Given the description of an element on the screen output the (x, y) to click on. 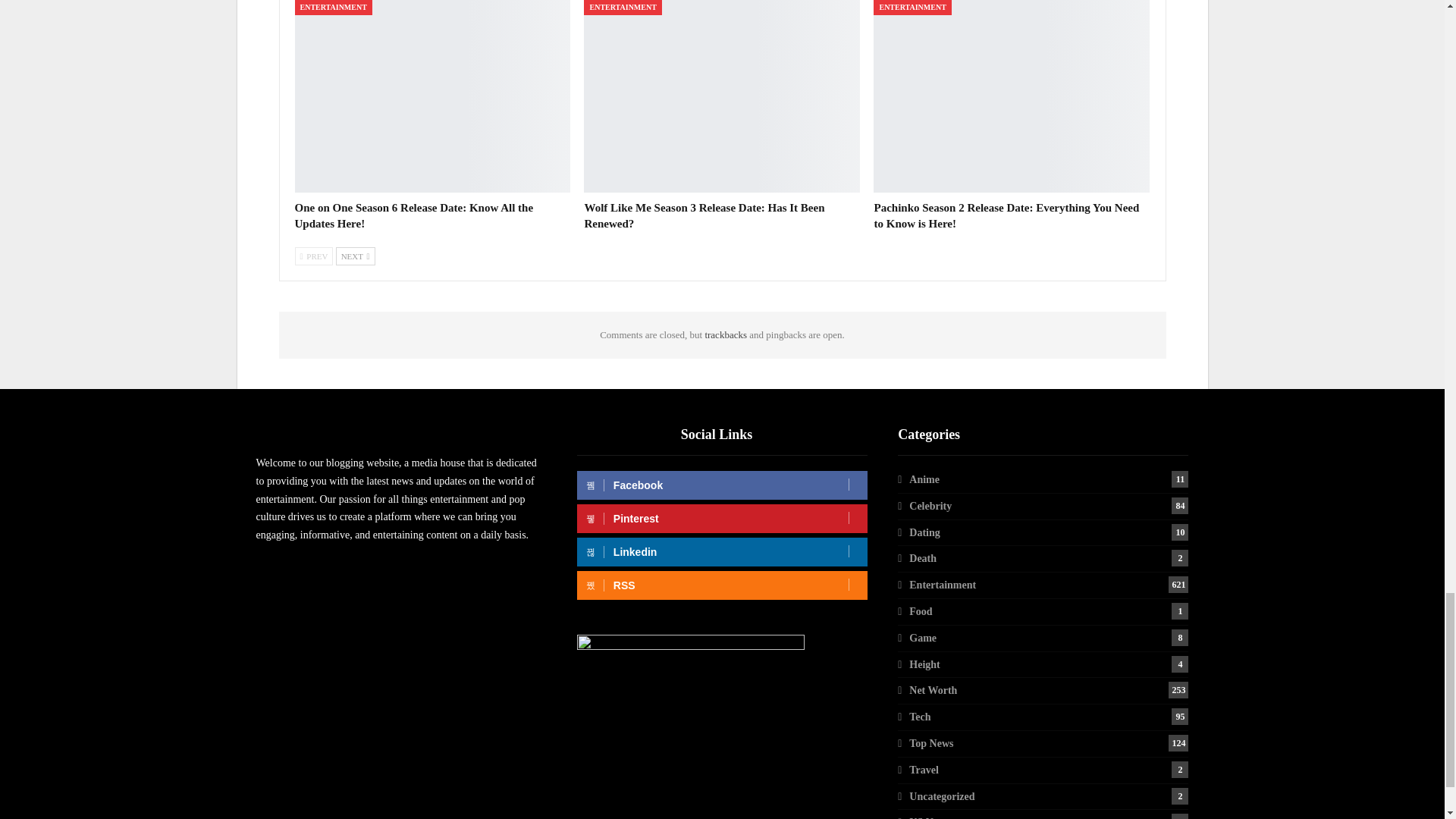
Wolf Like Me Season 3 Release Date: Has It Been Renewed? (703, 215)
Wolf Like Me Season 3 Release Date: Has It Been Renewed? (721, 96)
One on One Season 6 Release Date: Know All the Updates Here! (413, 215)
One on One Season 6 Release Date: Know All the Updates Here! (432, 96)
